Given the description of an element on the screen output the (x, y) to click on. 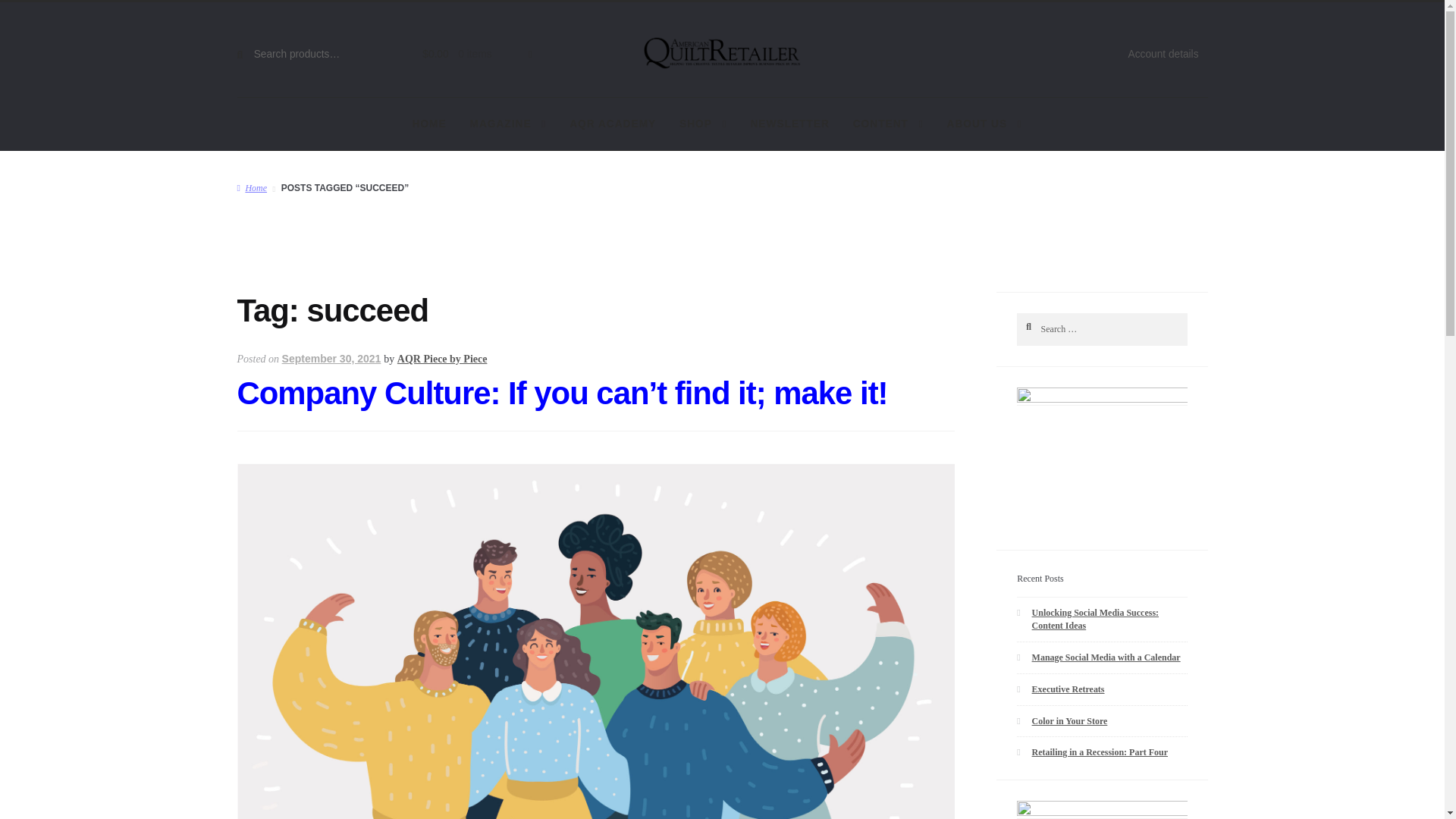
AQR ACADEMY (612, 124)
HOME (429, 124)
View your shopping cart (469, 54)
CONTENT (888, 124)
SHOP (702, 124)
Account details (1163, 54)
ABOUT US (984, 124)
NEWSLETTER (789, 124)
